Given the description of an element on the screen output the (x, y) to click on. 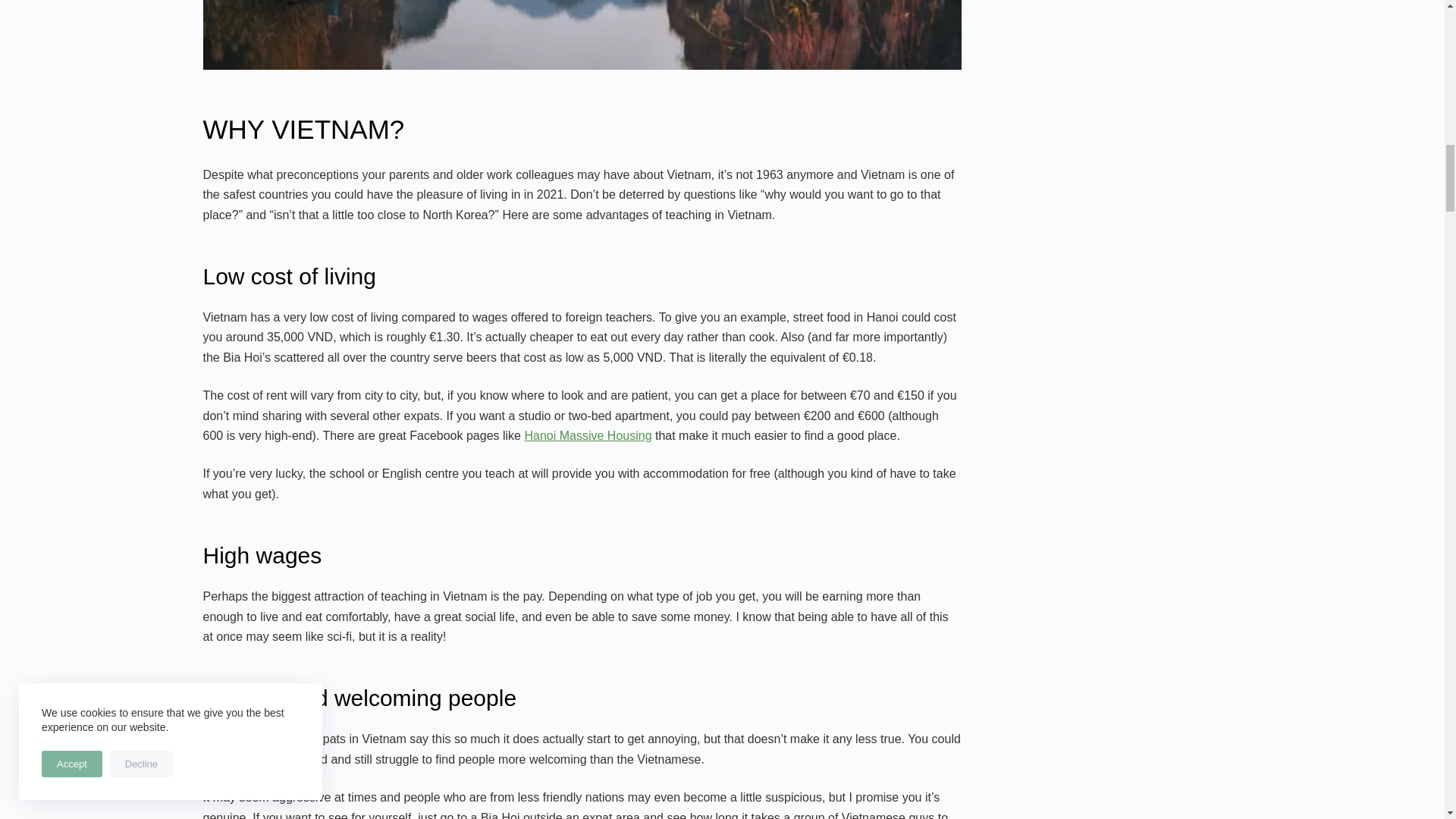
Teaching in Vietnam: A Guide for Working Success 2 (581, 34)
